Given the description of an element on the screen output the (x, y) to click on. 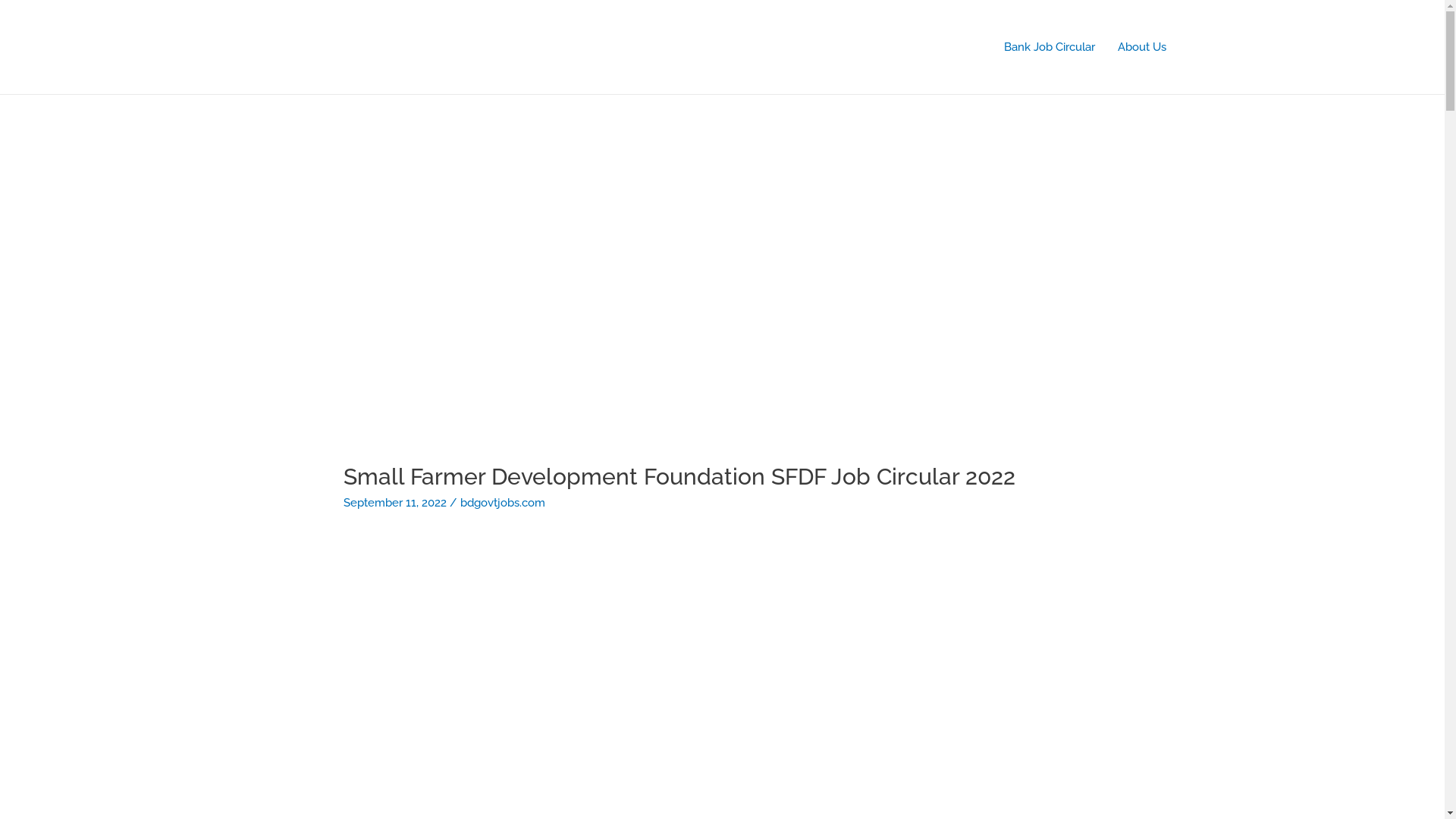
Bank Job Circular Element type: text (1048, 46)
3rd party ad content Element type: hover (721, 267)
About Us Element type: text (1140, 46)
3rd party ad content Element type: hover (722, 655)
bdgovtjobs.com Element type: text (502, 502)
